Given the description of an element on the screen output the (x, y) to click on. 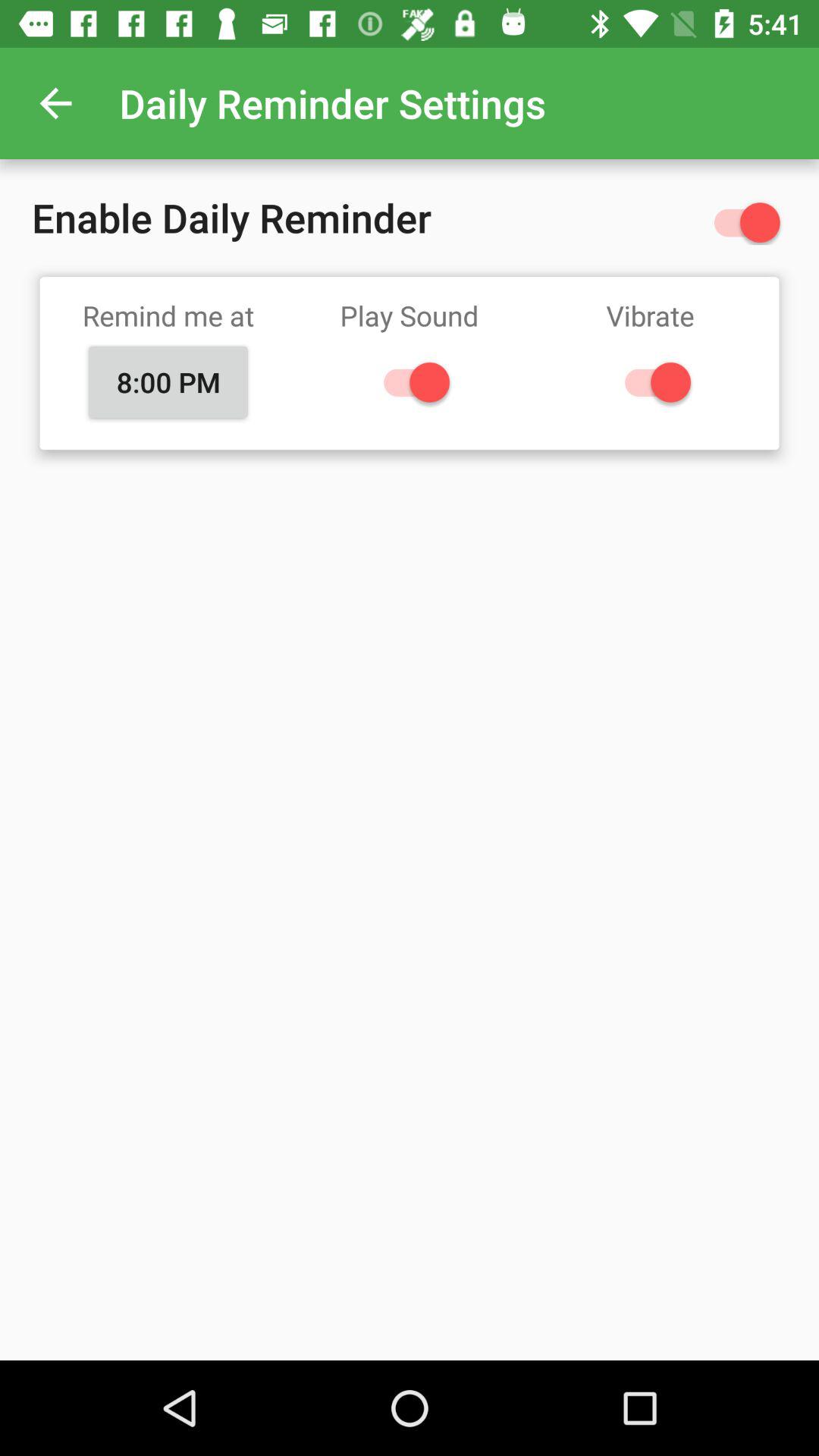
launch icon next to play sound item (167, 381)
